Given the description of an element on the screen output the (x, y) to click on. 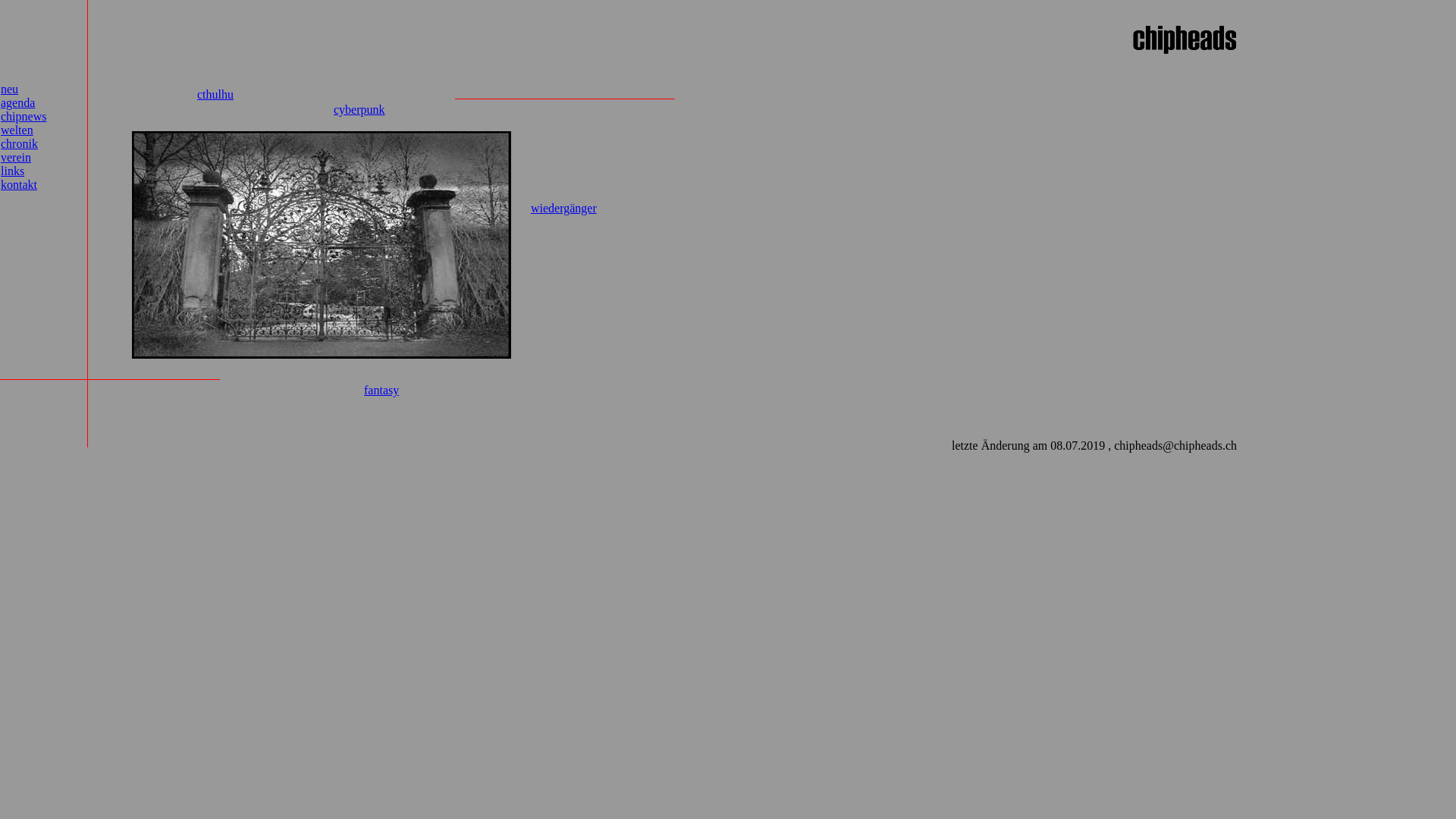
chipnews Element type: text (23, 115)
links Element type: text (12, 170)
cyberpunk Element type: text (359, 109)
fantasy Element type: text (381, 389)
chronik Element type: text (18, 143)
welten Element type: text (16, 129)
kontakt Element type: text (18, 184)
verein Element type: text (15, 156)
agenda Element type: text (17, 102)
cthulhu Element type: text (215, 93)
neu Element type: text (9, 88)
